Given the description of an element on the screen output the (x, y) to click on. 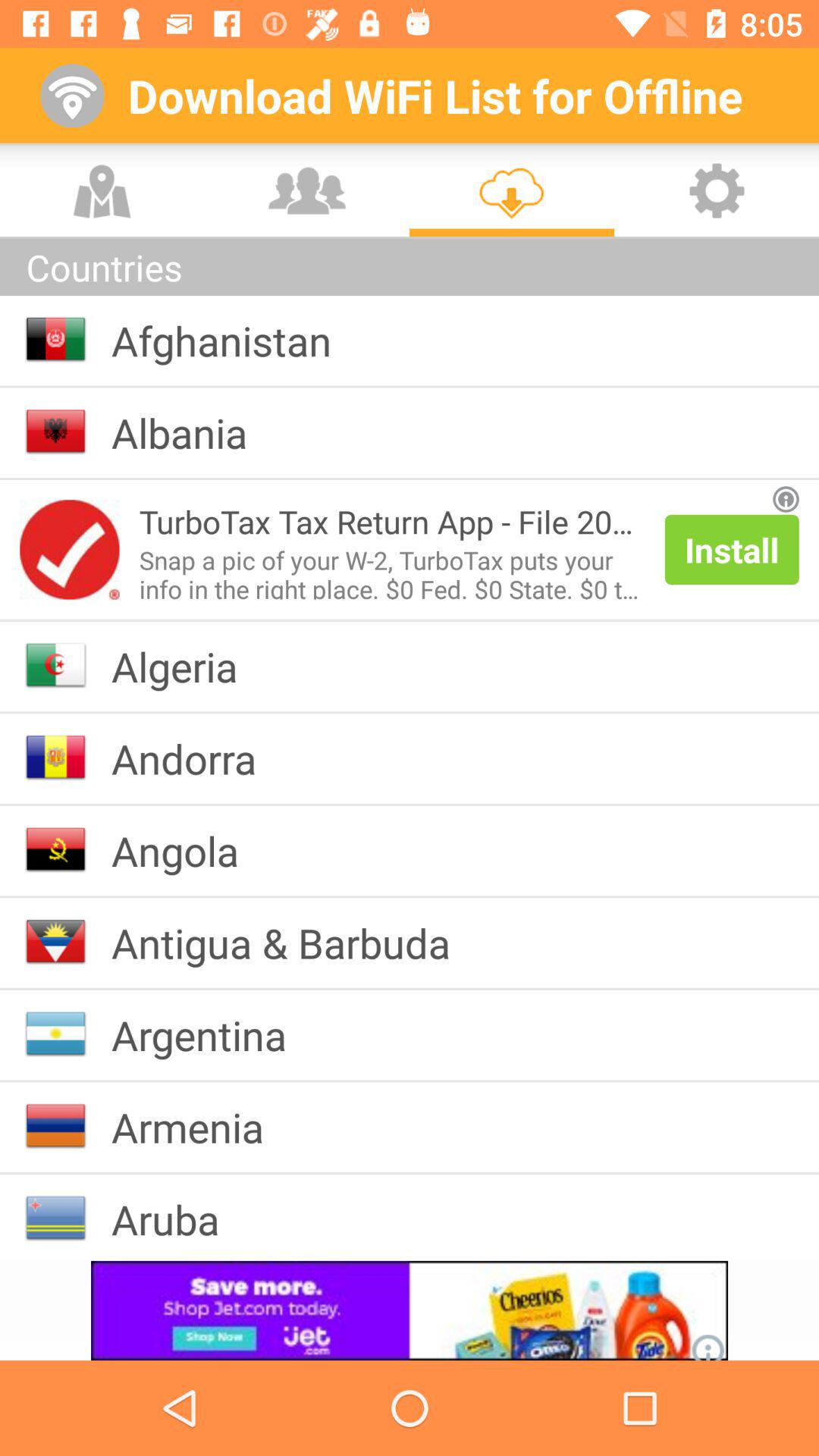
turn off icon below angola item (292, 942)
